Given the description of an element on the screen output the (x, y) to click on. 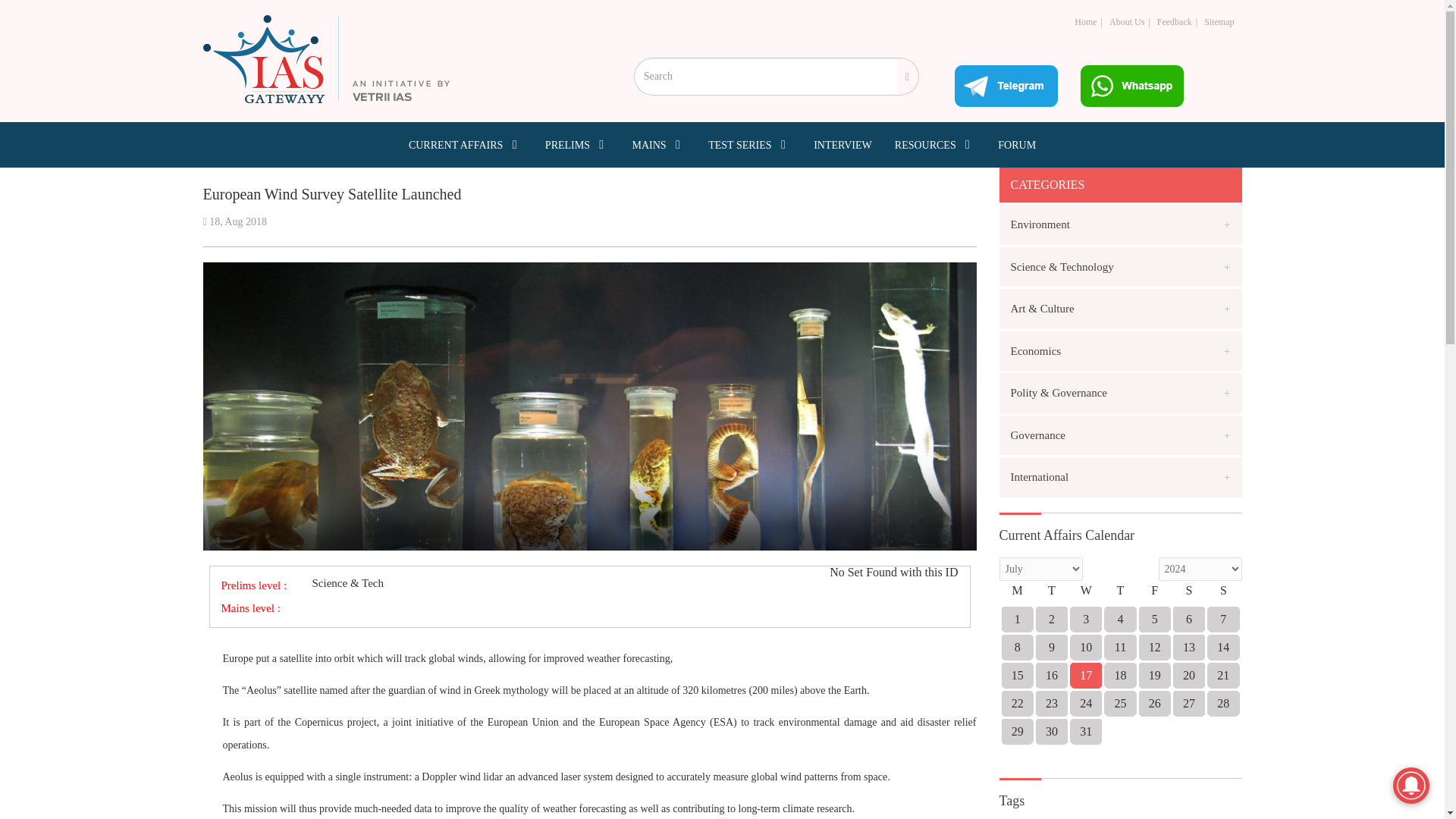
MAINS (658, 144)
TEST SERIES (748, 144)
Feedback (1174, 21)
About Us (1126, 21)
Economics (1119, 350)
Environment (1119, 224)
Sitemap (1218, 21)
Monday (1016, 594)
IAS Gatewayy (326, 59)
Friday (1154, 594)
Wednesday (1085, 594)
CURRENT AFFAIRS (465, 144)
Home (1085, 21)
Governance (1119, 435)
